Given the description of an element on the screen output the (x, y) to click on. 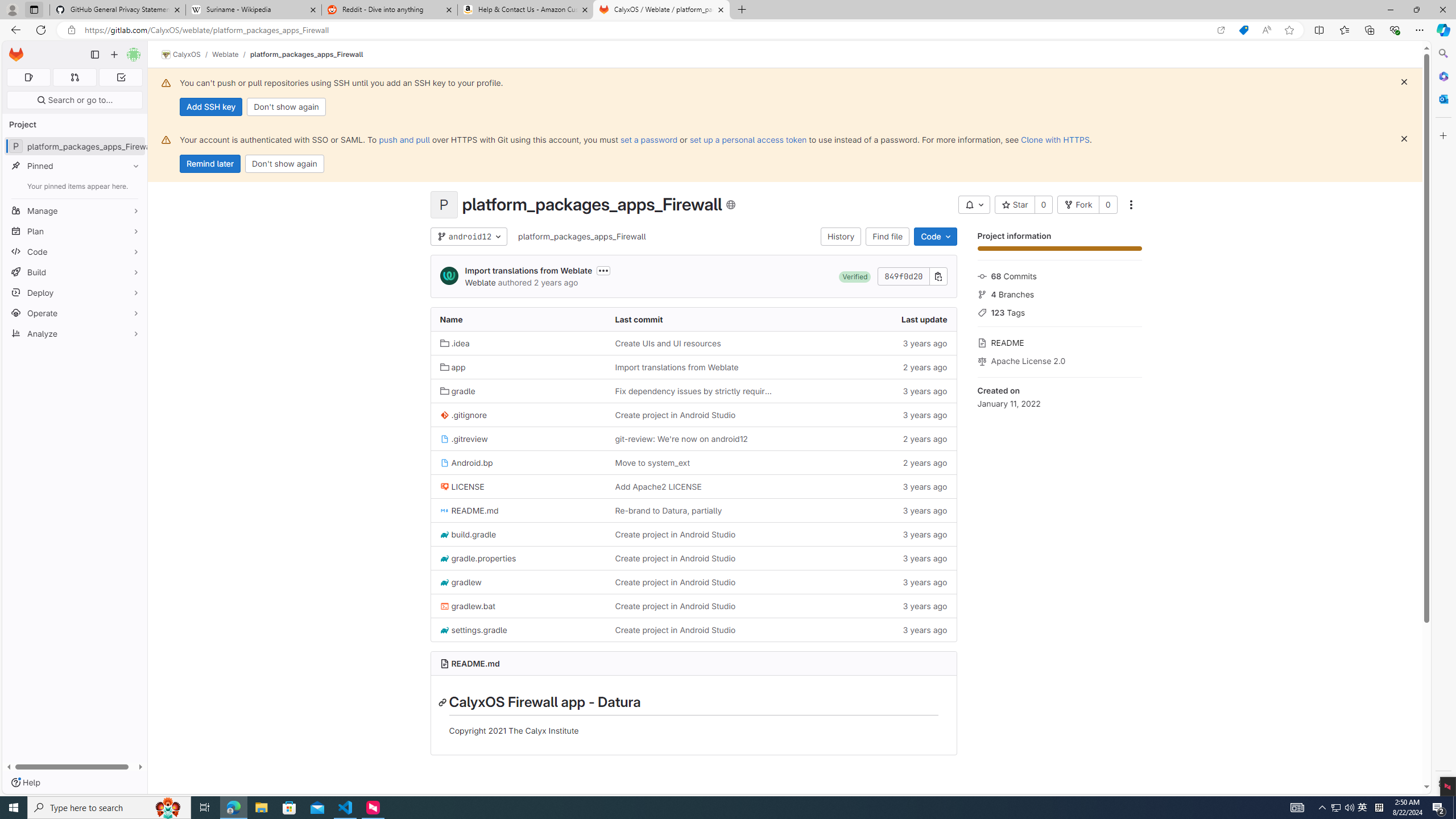
Create project in Android Studio (693, 629)
